Given the description of an element on the screen output the (x, y) to click on. 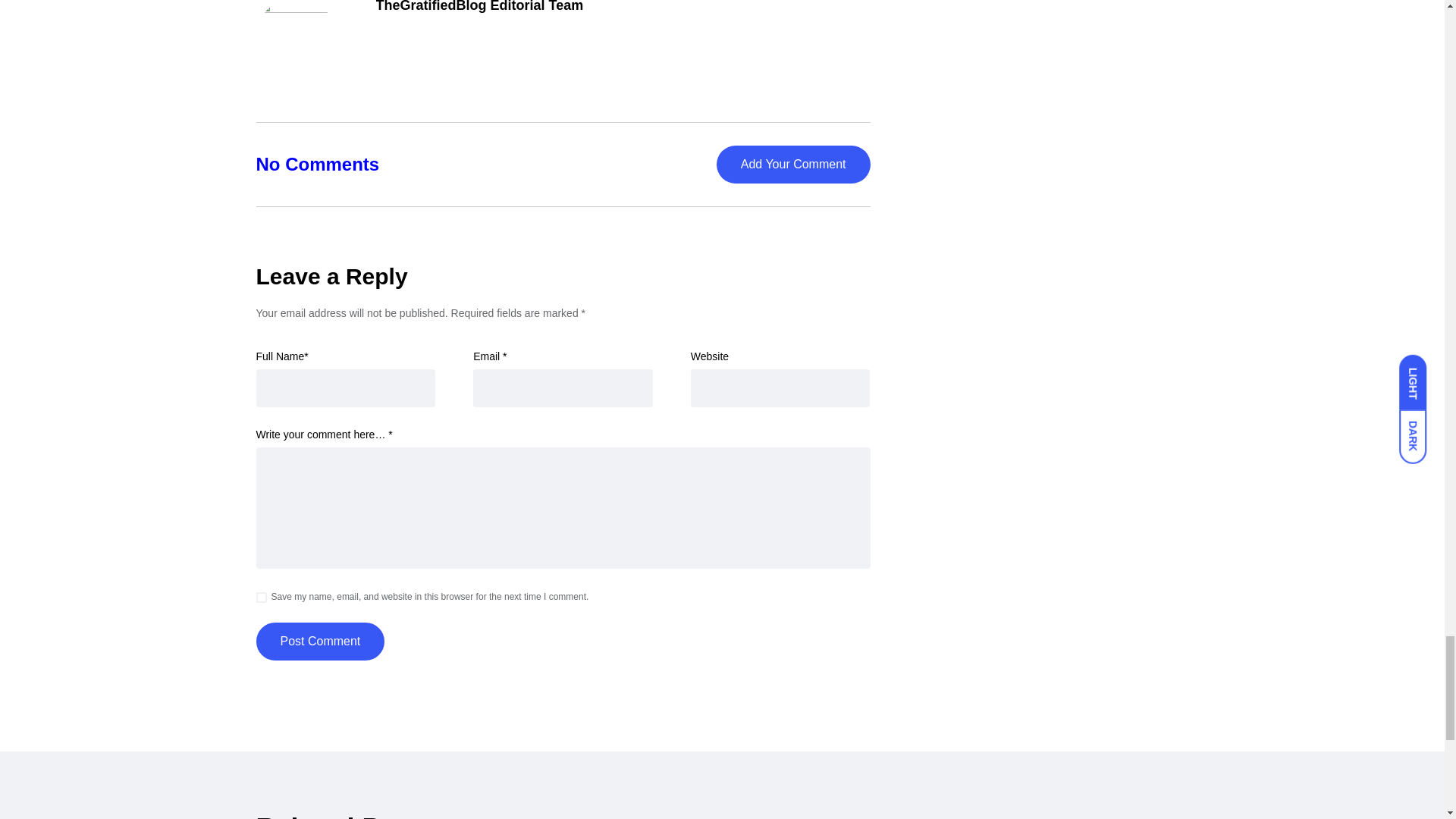
Post Comment (320, 641)
